Given the description of an element on the screen output the (x, y) to click on. 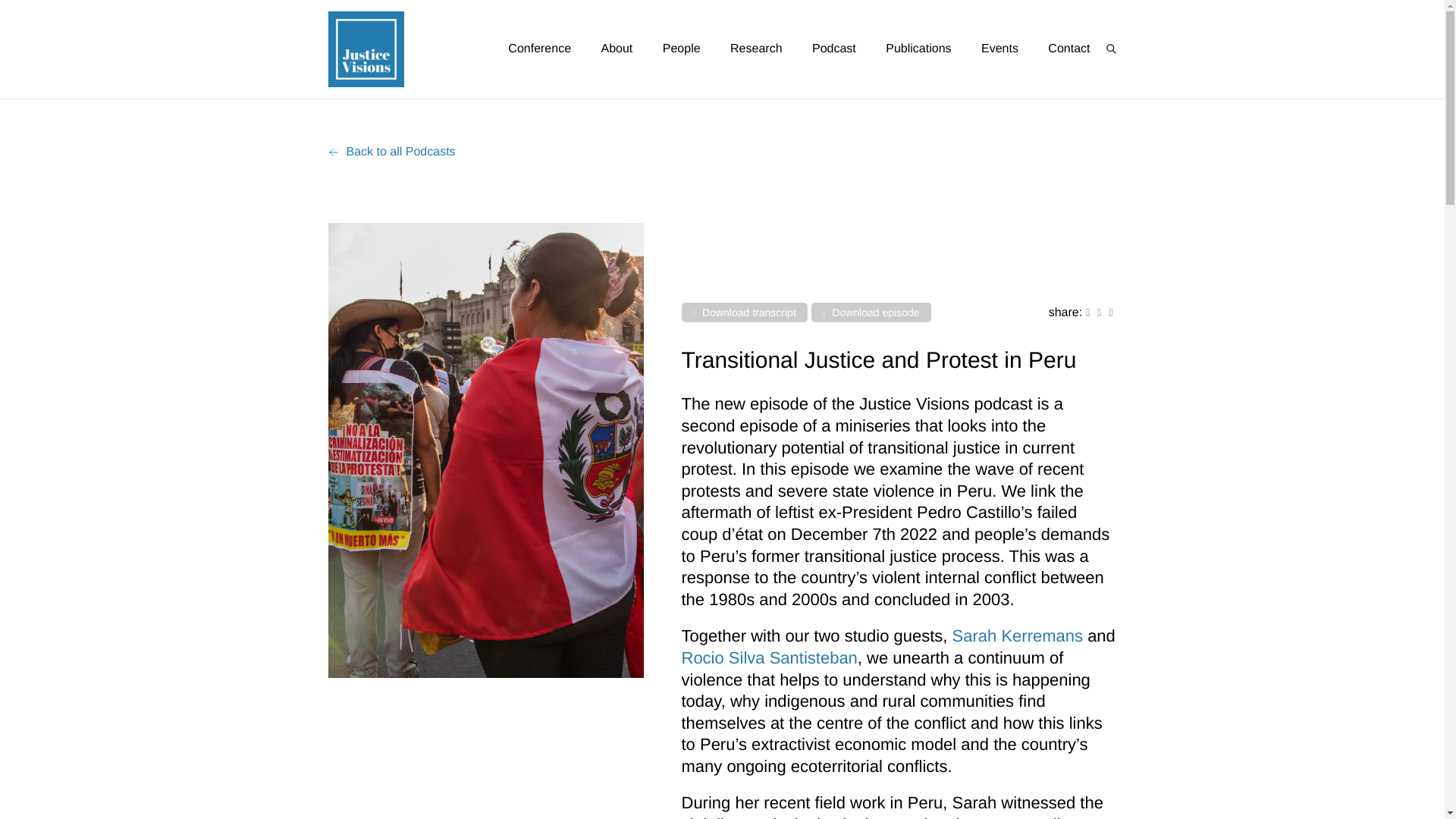
Events (1000, 49)
Sarah Kerremans (1017, 635)
Download transcript (743, 312)
People (681, 49)
Publications (917, 49)
Download episode (870, 312)
About (616, 49)
Conference (539, 49)
Contact (1069, 49)
Rocio Silva Santisteban (769, 657)
Podcast (834, 49)
Back to all Podcasts (390, 152)
Research (755, 49)
